Given the description of an element on the screen output the (x, y) to click on. 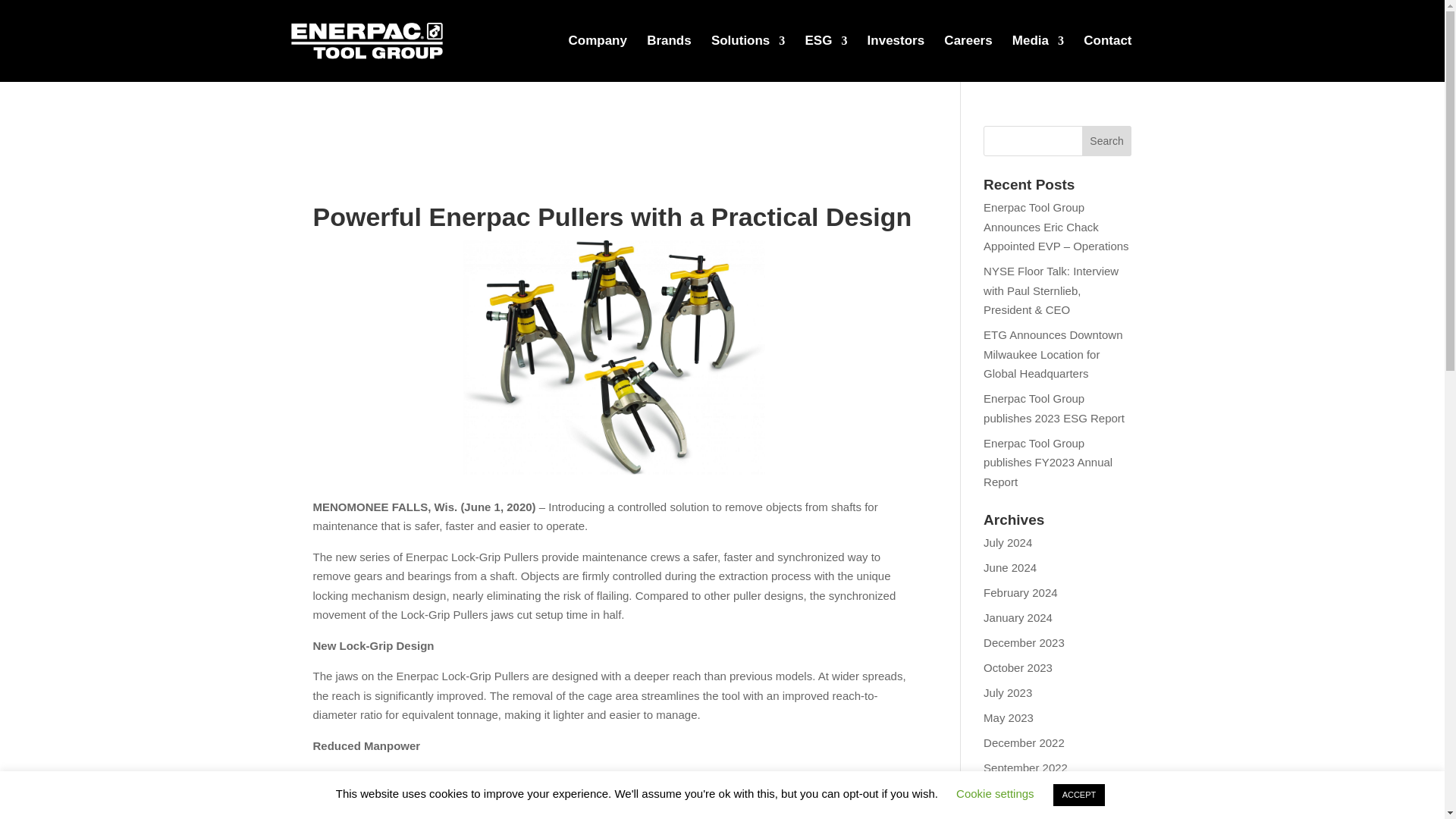
Careers (967, 58)
Company (598, 58)
Solutions (747, 58)
Contact (1107, 58)
ESG (826, 58)
Search (1106, 141)
Brands (668, 58)
Media (1037, 58)
Investors (895, 58)
